Given the description of an element on the screen output the (x, y) to click on. 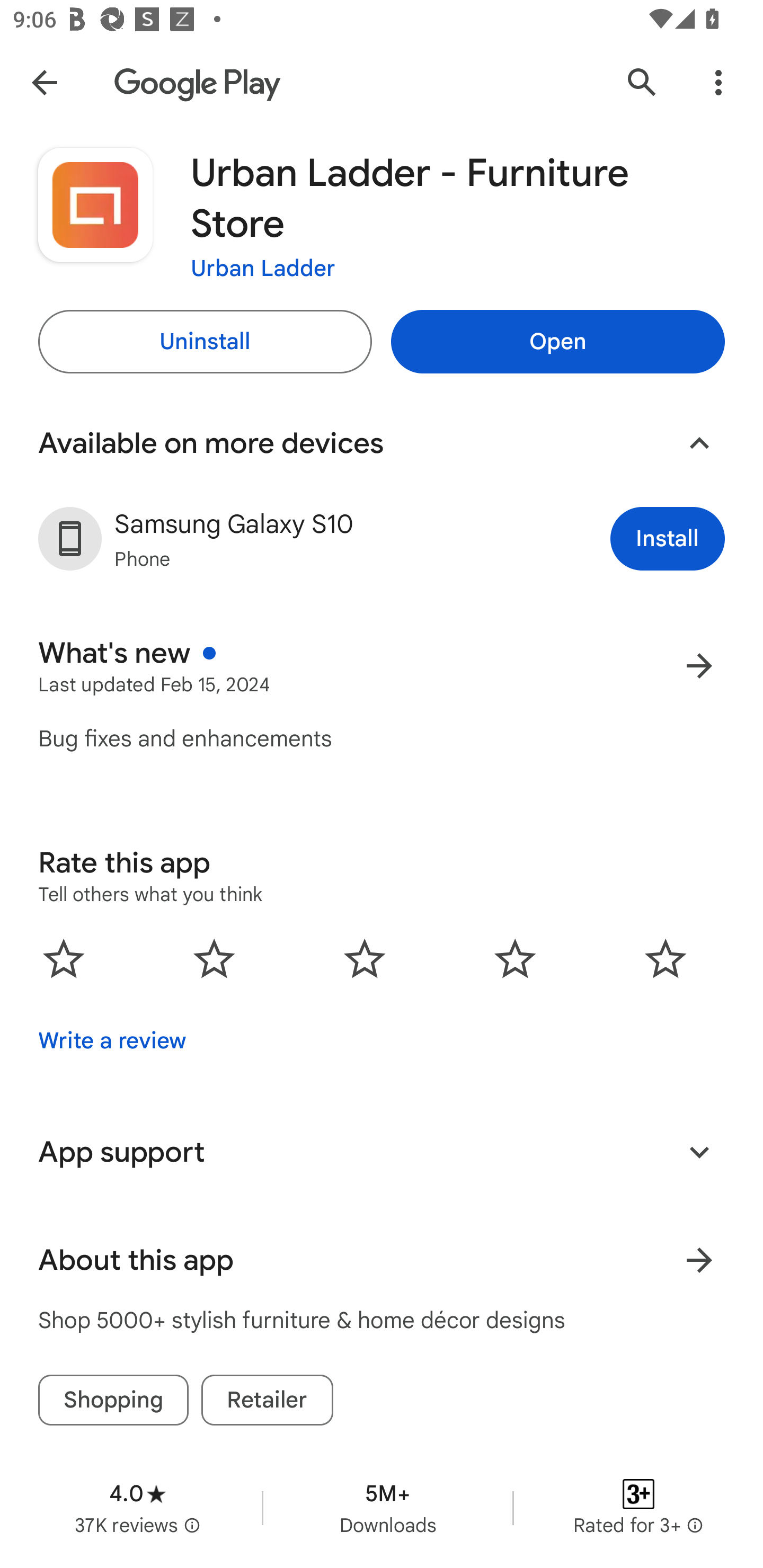
Navigate up (44, 81)
Search Google Play (642, 81)
More Options (718, 81)
Urban Ladder (262, 267)
Uninstall (205, 341)
Open (557, 341)
Available on more devices Collapse (381, 442)
Collapse (699, 442)
Install (667, 538)
More results for What's new (699, 665)
0.0 (364, 957)
Write a review (112, 1040)
App support Expand (381, 1151)
Expand (699, 1151)
About this app Learn more About this app (381, 1259)
Learn more About this app (699, 1259)
Shopping tag (113, 1399)
Retailer tag (267, 1399)
Average rating 4.0 stars in 37 thousand reviews (137, 1507)
Content rating Rated for 3+ (638, 1507)
